Given the description of an element on the screen output the (x, y) to click on. 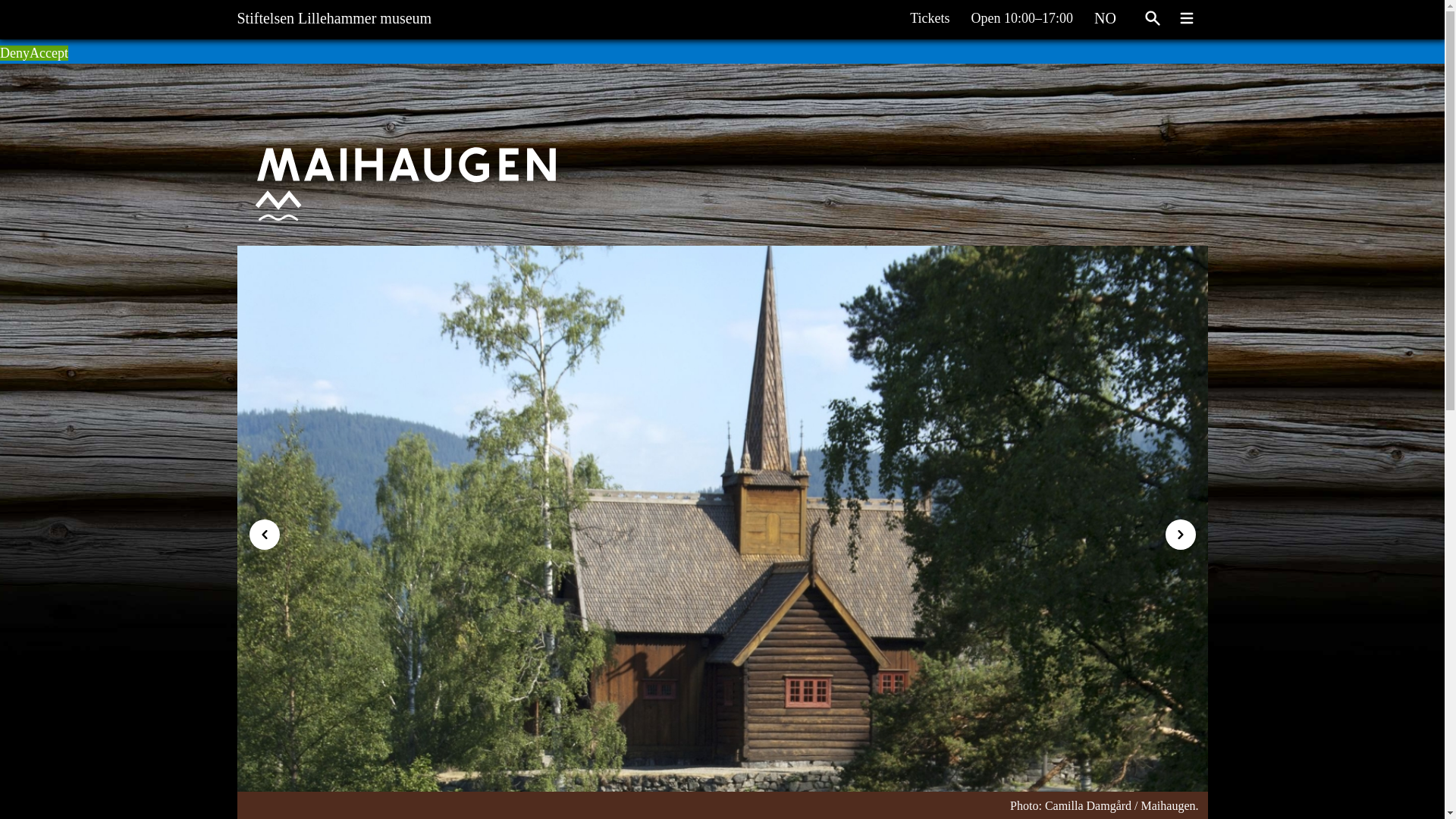
Stiftelsen Lillehammer museum (332, 14)
see our guidelines. (176, 31)
NO (1108, 14)
Deny (14, 52)
Accept (48, 52)
Tickets (936, 17)
